Given the description of an element on the screen output the (x, y) to click on. 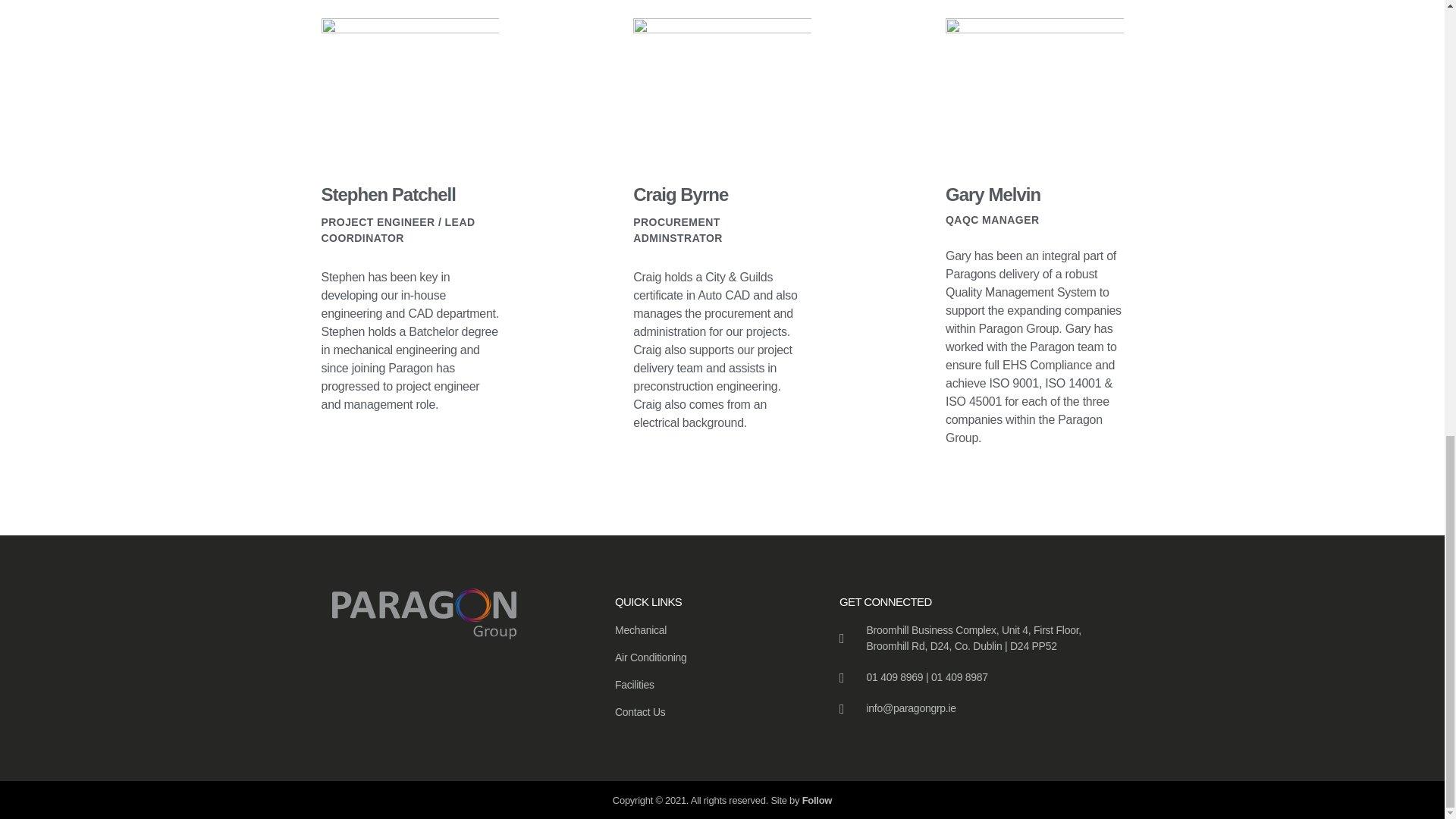
Follow (817, 799)
Facilities (696, 684)
Air Conditioning (696, 657)
Contact Us (696, 712)
Mechanical (696, 630)
